Given the description of an element on the screen output the (x, y) to click on. 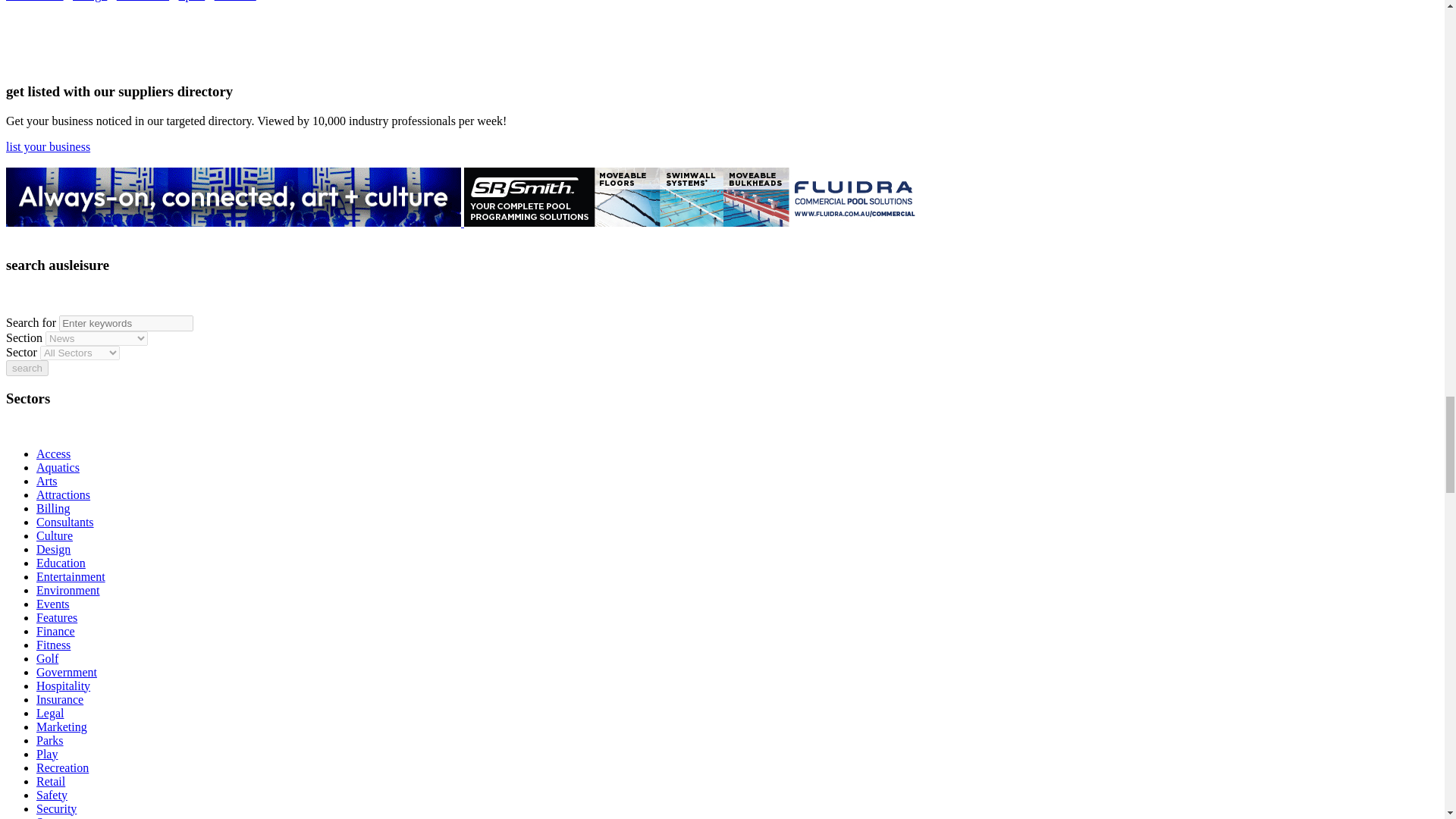
search (26, 367)
search (26, 367)
